Given the description of an element on the screen output the (x, y) to click on. 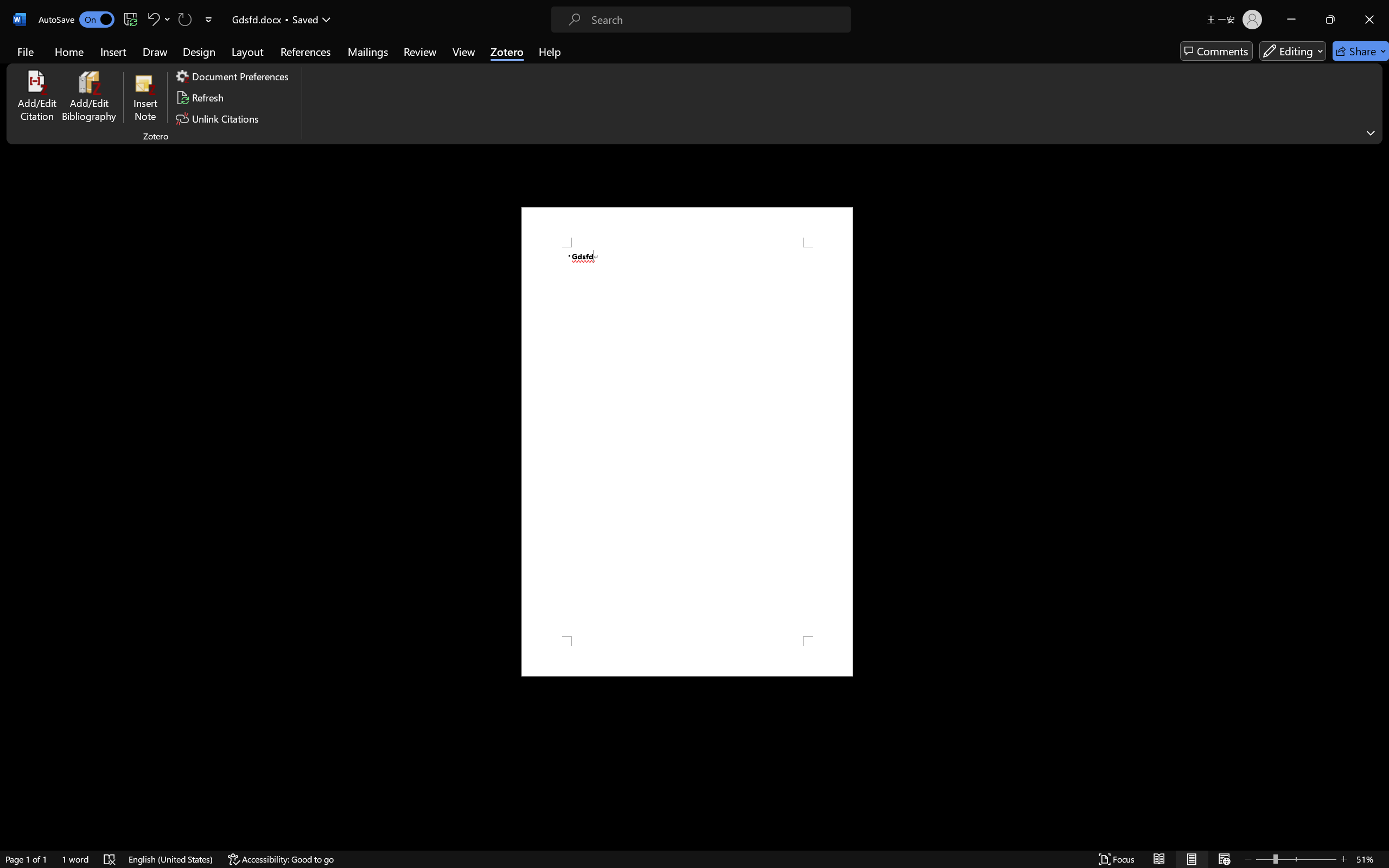
Page 1 content (686, 441)
